Given the description of an element on the screen output the (x, y) to click on. 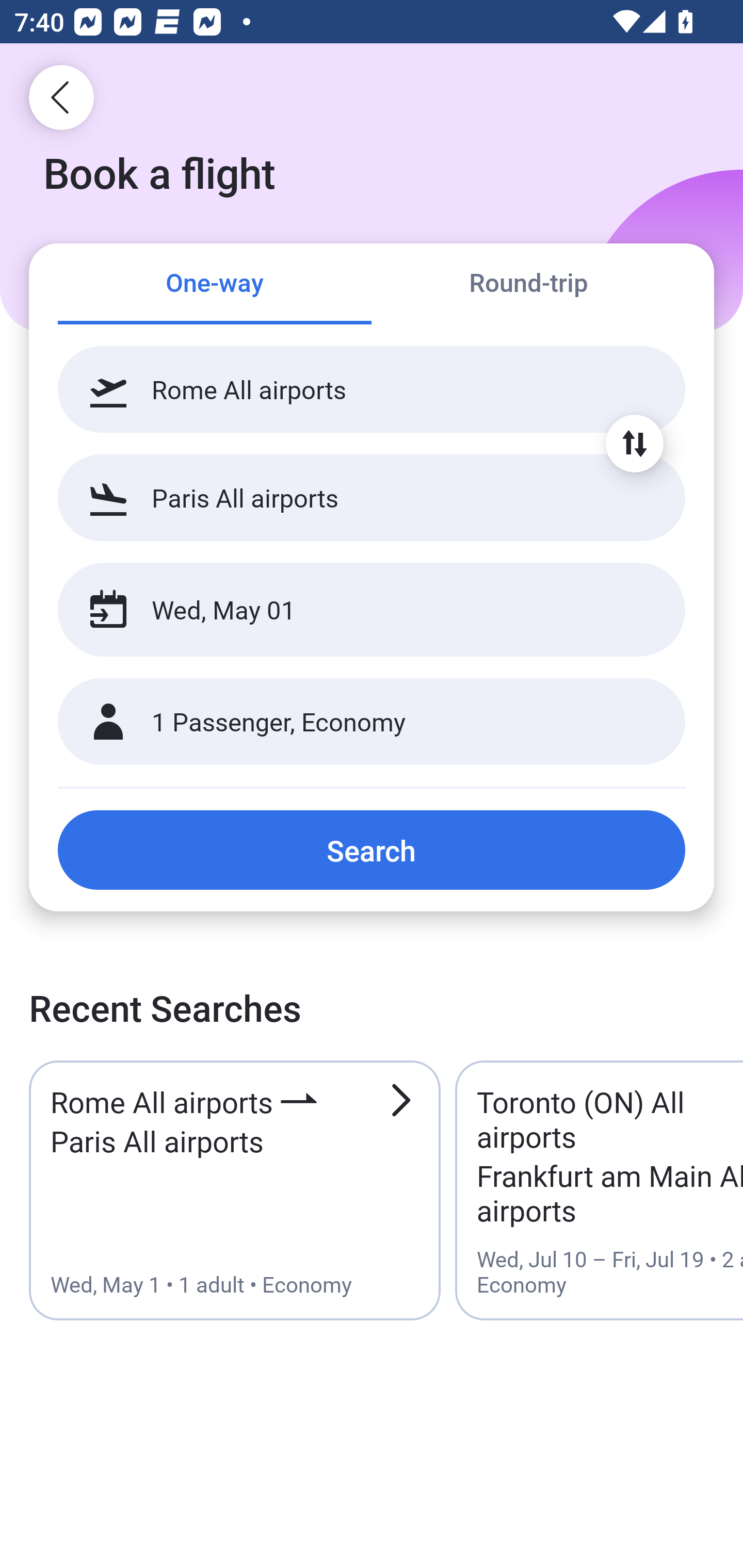
Round-trip (528, 284)
Rome All airports (371, 389)
Paris All airports (371, 497)
Wed, May 01 (349, 609)
1 Passenger, Economy (371, 721)
Search (371, 849)
